Given the description of an element on the screen output the (x, y) to click on. 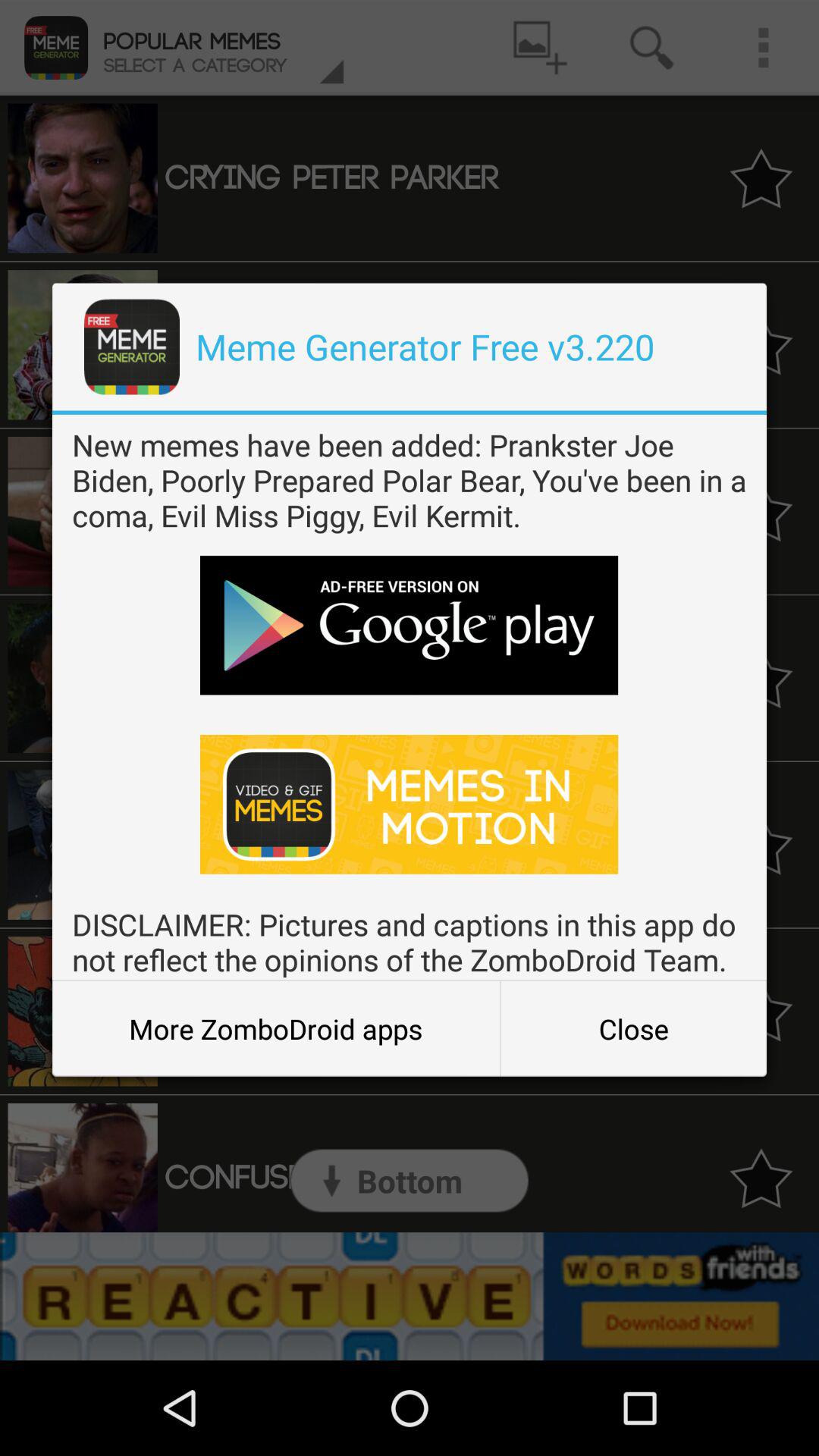
google play (409, 624)
